Given the description of an element on the screen output the (x, y) to click on. 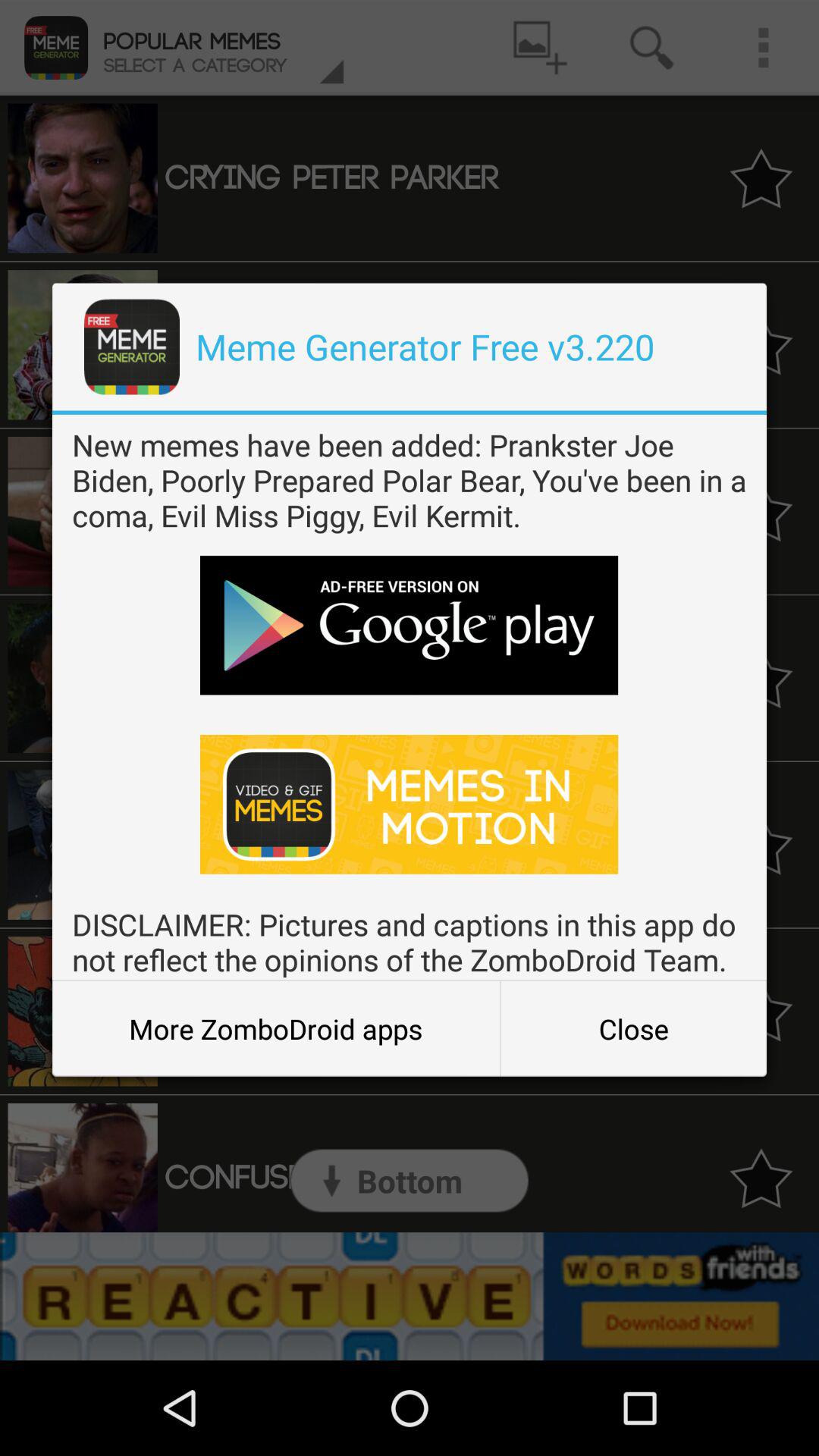
google play (409, 624)
